Given the description of an element on the screen output the (x, y) to click on. 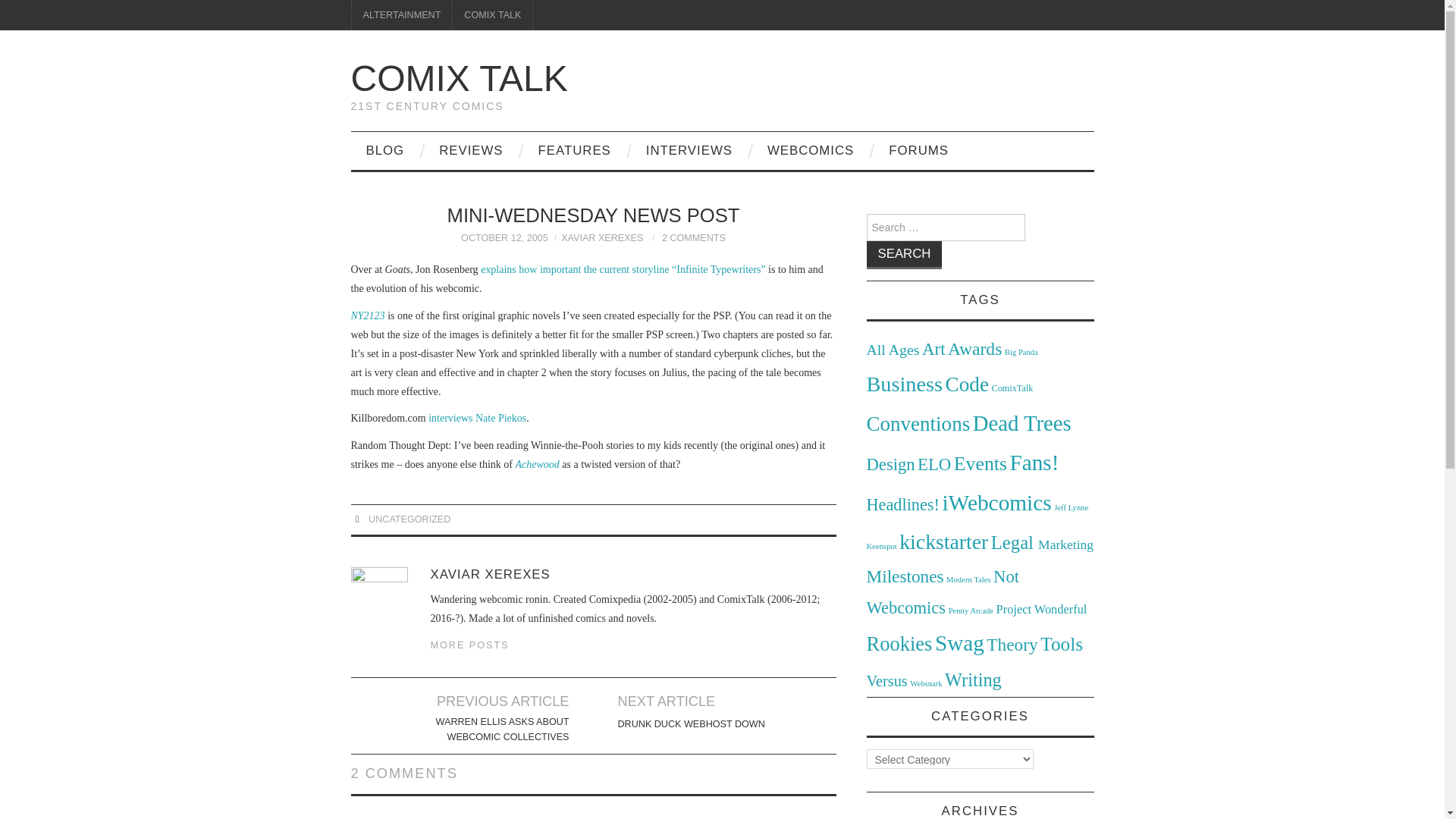
All Ages (892, 349)
Comix Talk (458, 78)
2 COMMENTS (693, 237)
Fans! (1034, 462)
Search (904, 254)
ALTERTAINMENT (402, 15)
Business (904, 383)
Big Panda (1021, 352)
COMIX TALK (492, 15)
Art (932, 348)
